Given the description of an element on the screen output the (x, y) to click on. 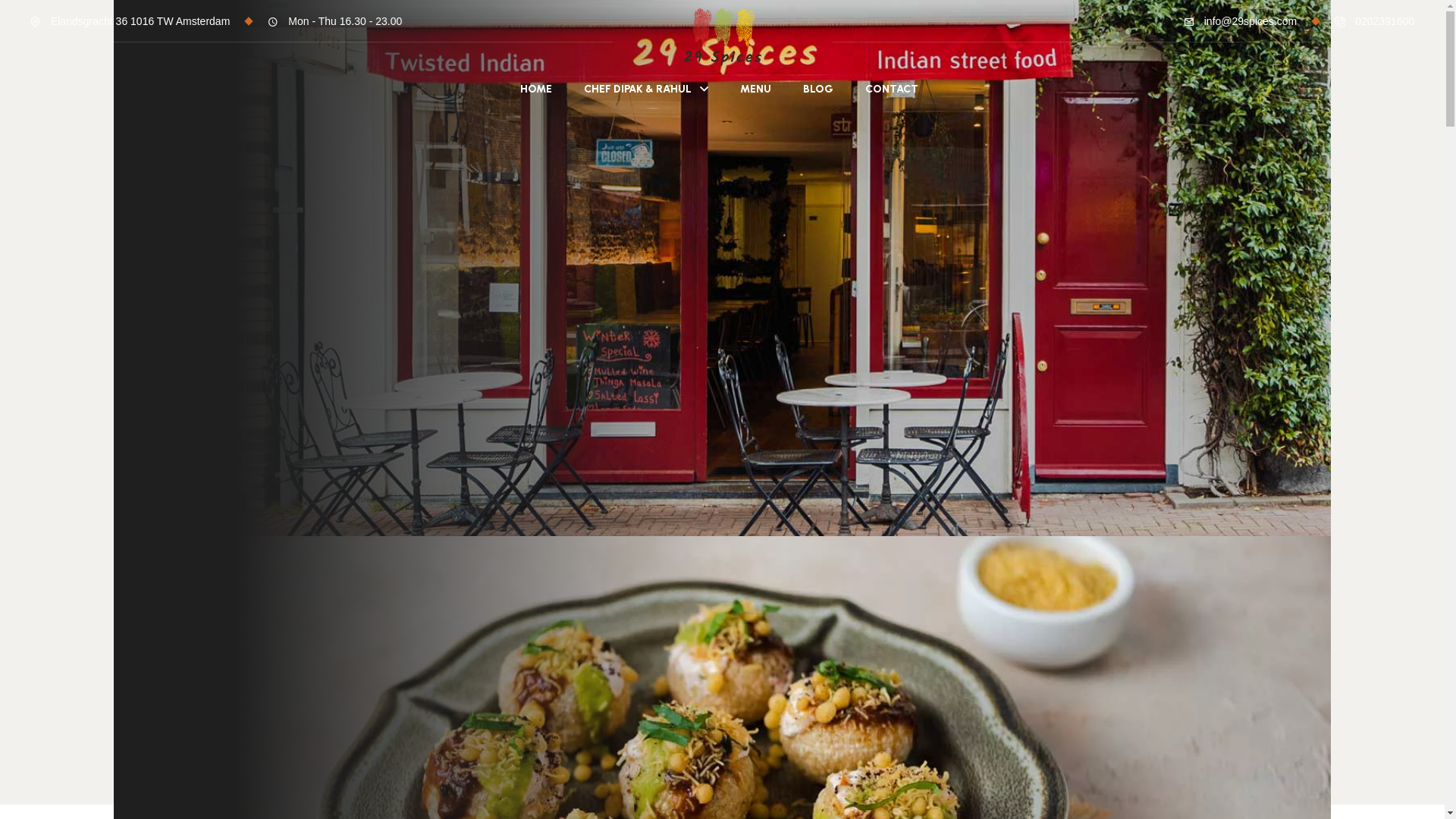
0202391600 Element type: text (1384, 20)
29 Spices Element type: hover (722, 35)
CHEF DIPAK & RAHUL Element type: text (645, 83)
BLOG Element type: text (817, 83)
CONTACT Element type: text (890, 83)
info@29spices.com Element type: text (1250, 20)
HOME Element type: text (536, 83)
MENU Element type: text (755, 83)
